Given the description of an element on the screen output the (x, y) to click on. 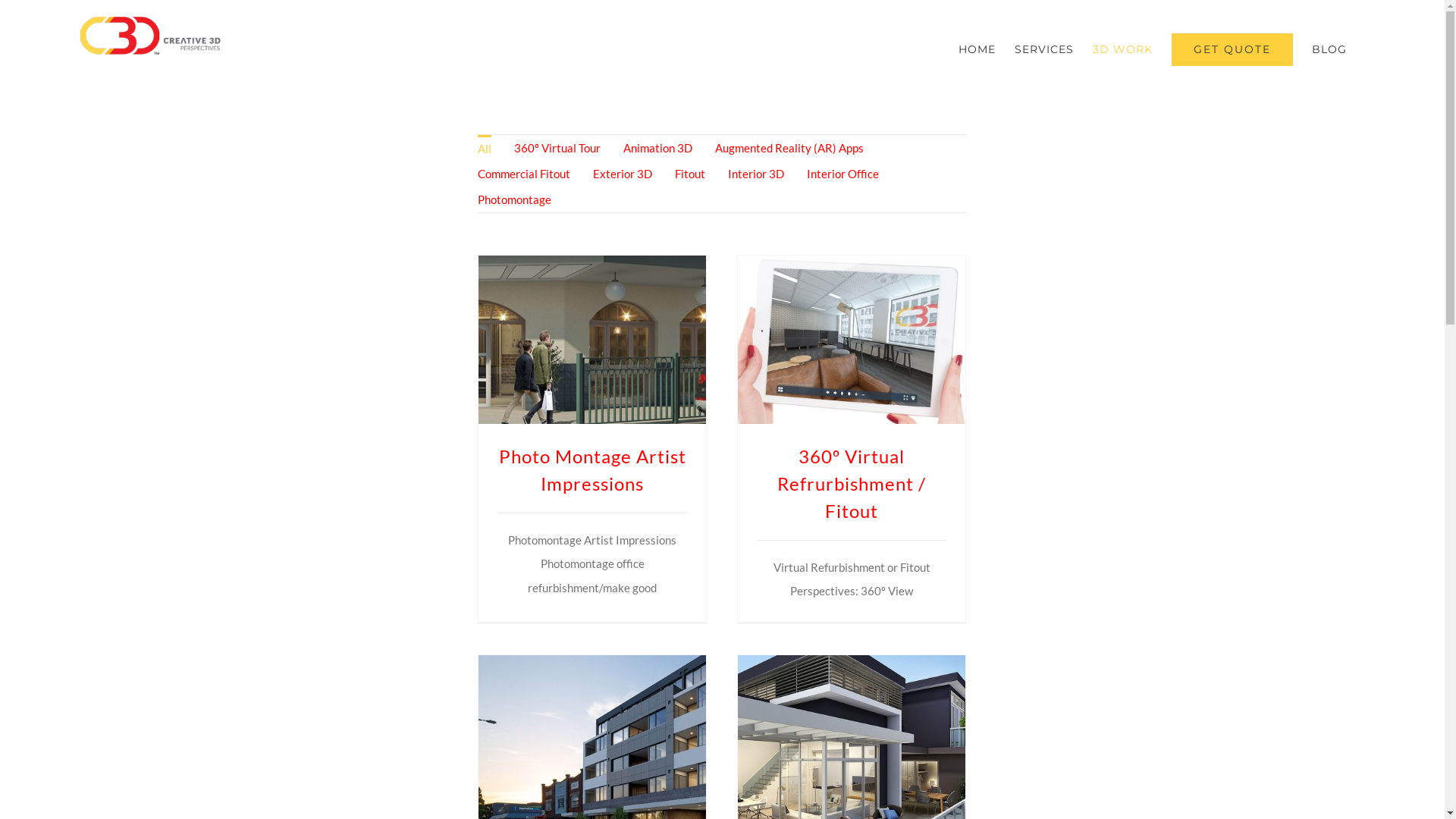
Interior 3D Element type: text (756, 173)
Commercial Fitout Element type: text (523, 173)
3D WORK Element type: text (1122, 49)
Photo Montage Artist Impressions Element type: text (592, 469)
GET QUOTE Element type: text (1231, 49)
HOME Element type: text (976, 49)
SERVICES Element type: text (1043, 49)
Photomontage Element type: text (514, 199)
BLOG Element type: text (1328, 49)
Animation 3D Element type: text (657, 147)
Exterior 3D Element type: text (622, 173)
Augmented Reality (AR) Apps Element type: text (789, 147)
Fitout Element type: text (689, 173)
All Element type: text (484, 147)
Interior Office Element type: text (842, 173)
